Given the description of an element on the screen output the (x, y) to click on. 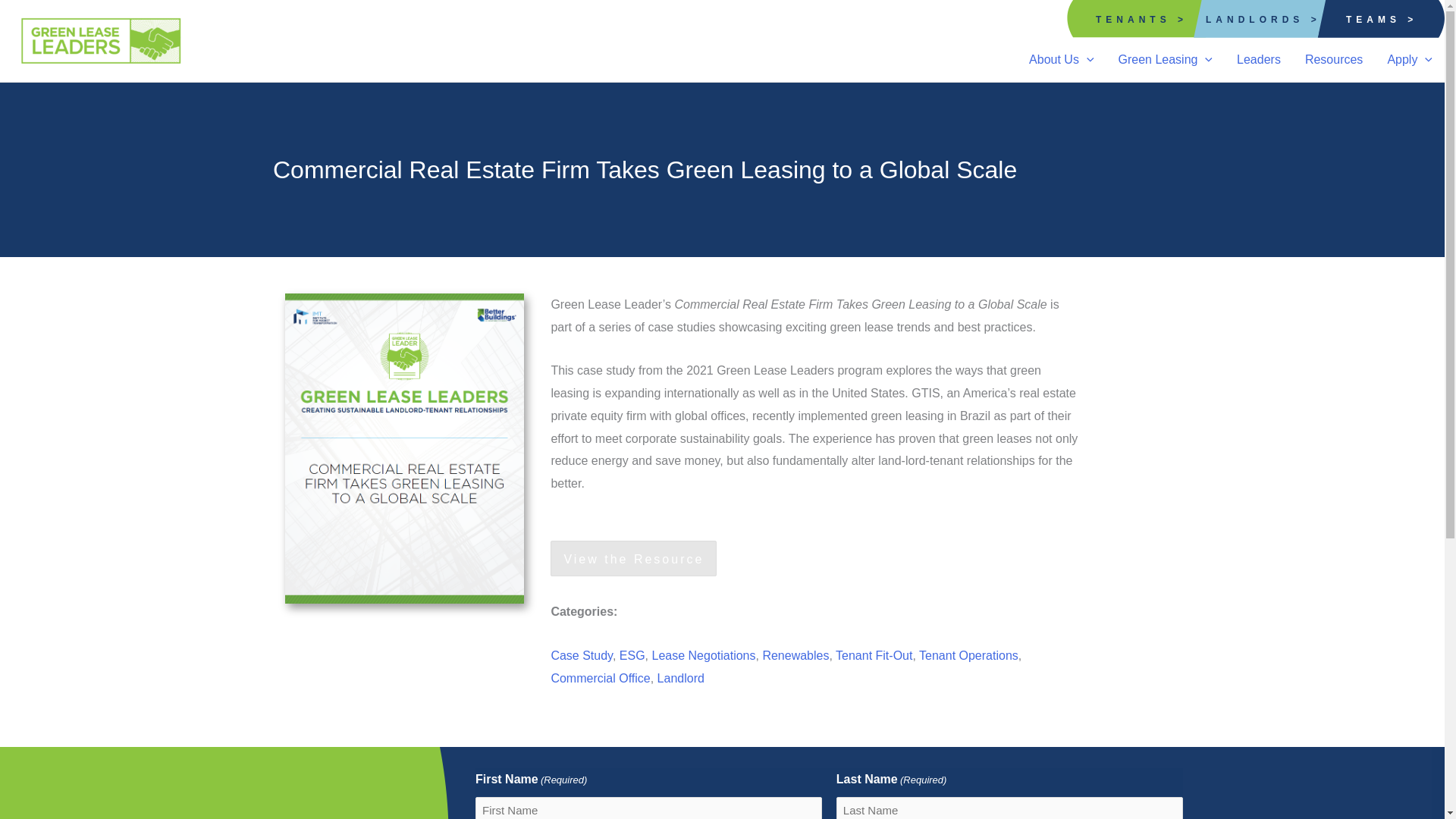
About Us (1060, 59)
Apply (1409, 59)
Leaders (1258, 59)
Green Leasing (1164, 59)
Resources (1333, 59)
